Given the description of an element on the screen output the (x, y) to click on. 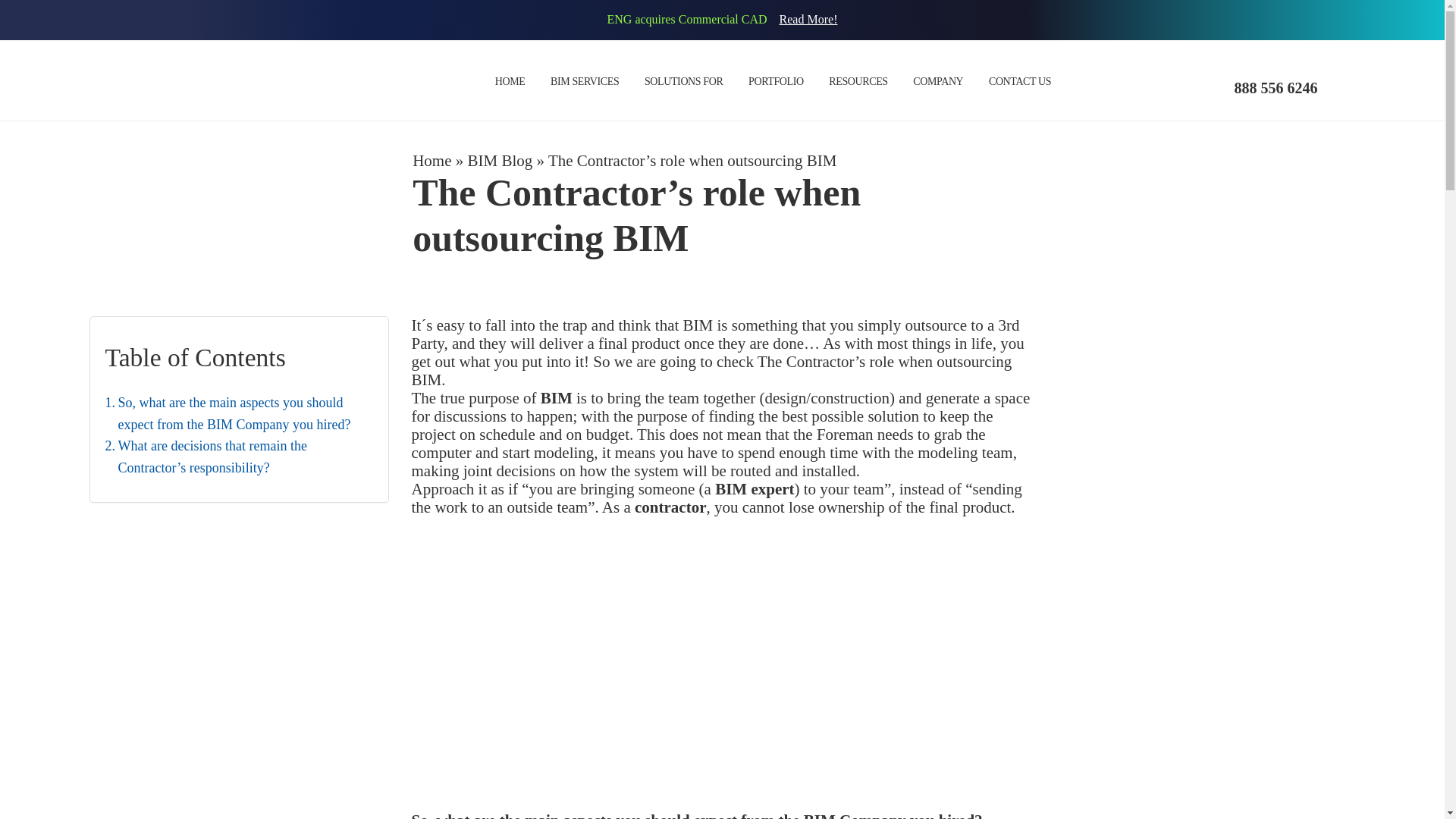
Read More! (808, 19)
SOLUTIONS FOR (683, 81)
